Given the description of an element on the screen output the (x, y) to click on. 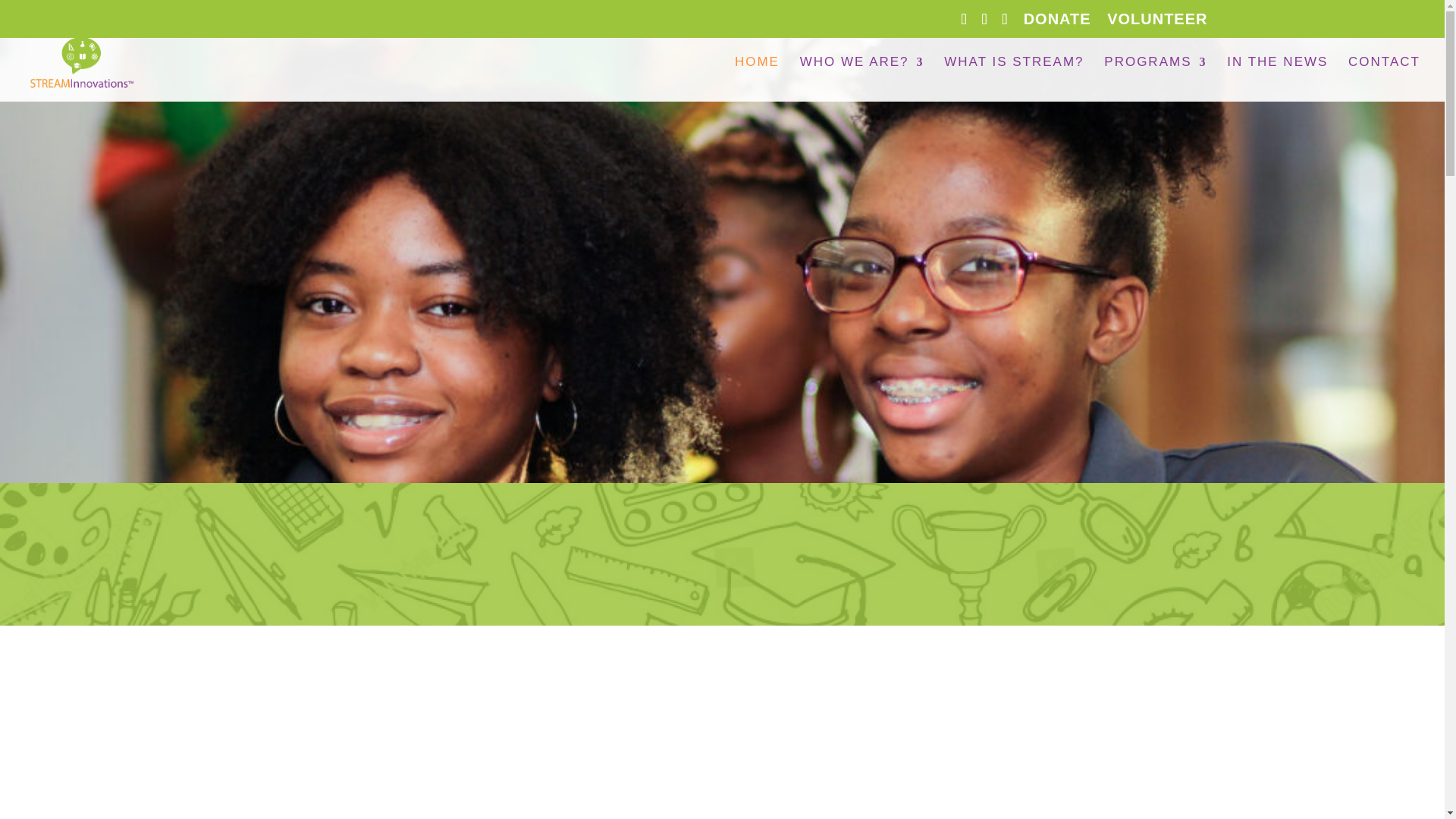
IN THE NEWS (1277, 78)
PROGRAMS (1155, 78)
VOLUNTEER (1156, 24)
CONTACT (1384, 78)
WHAT IS STREAM? (1013, 78)
HOME (756, 78)
WHO WE ARE? (861, 78)
DONATE (1056, 24)
